Given the description of an element on the screen output the (x, y) to click on. 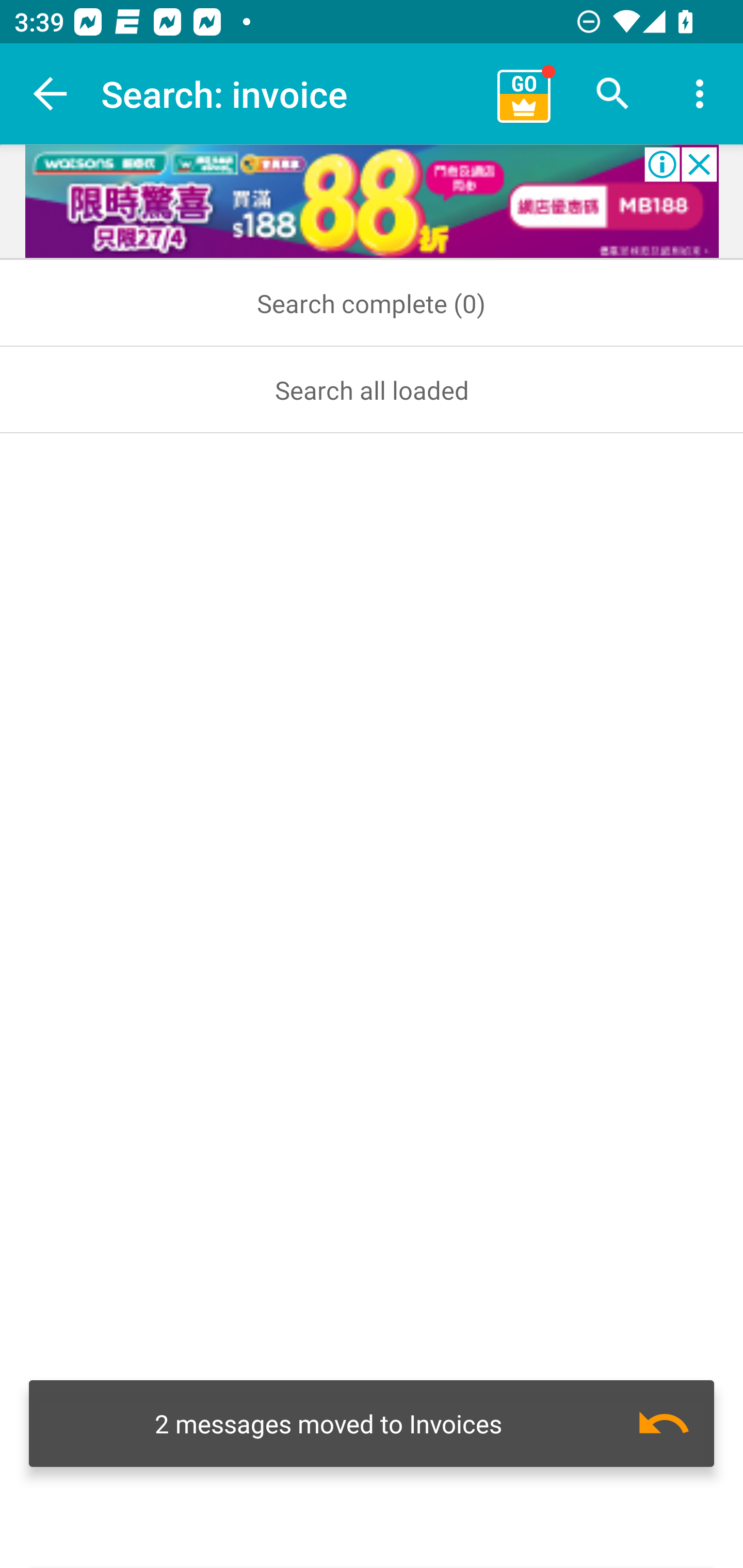
Navigate up (50, 93)
Search (612, 93)
More options (699, 93)
Advertisement (371, 202)
Search complete (0) (371, 303)
Search all loaded (371, 389)
Undo 2 messages moved to Invoices (371, 1423)
